Given the description of an element on the screen output the (x, y) to click on. 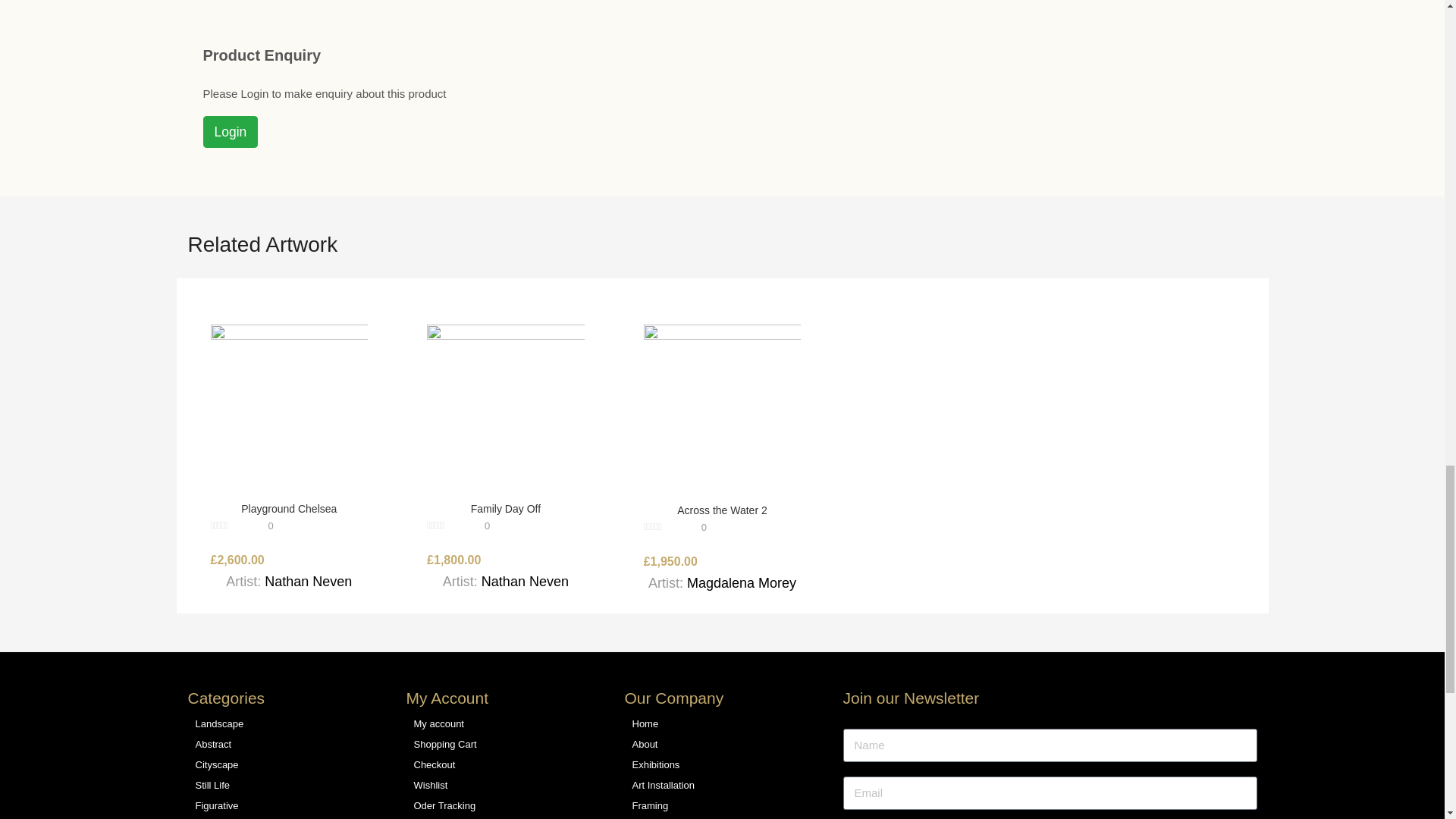
Playground Chelsea (289, 402)
Family Day Off (505, 402)
Across the Water 2 (722, 403)
